Given the description of an element on the screen output the (x, y) to click on. 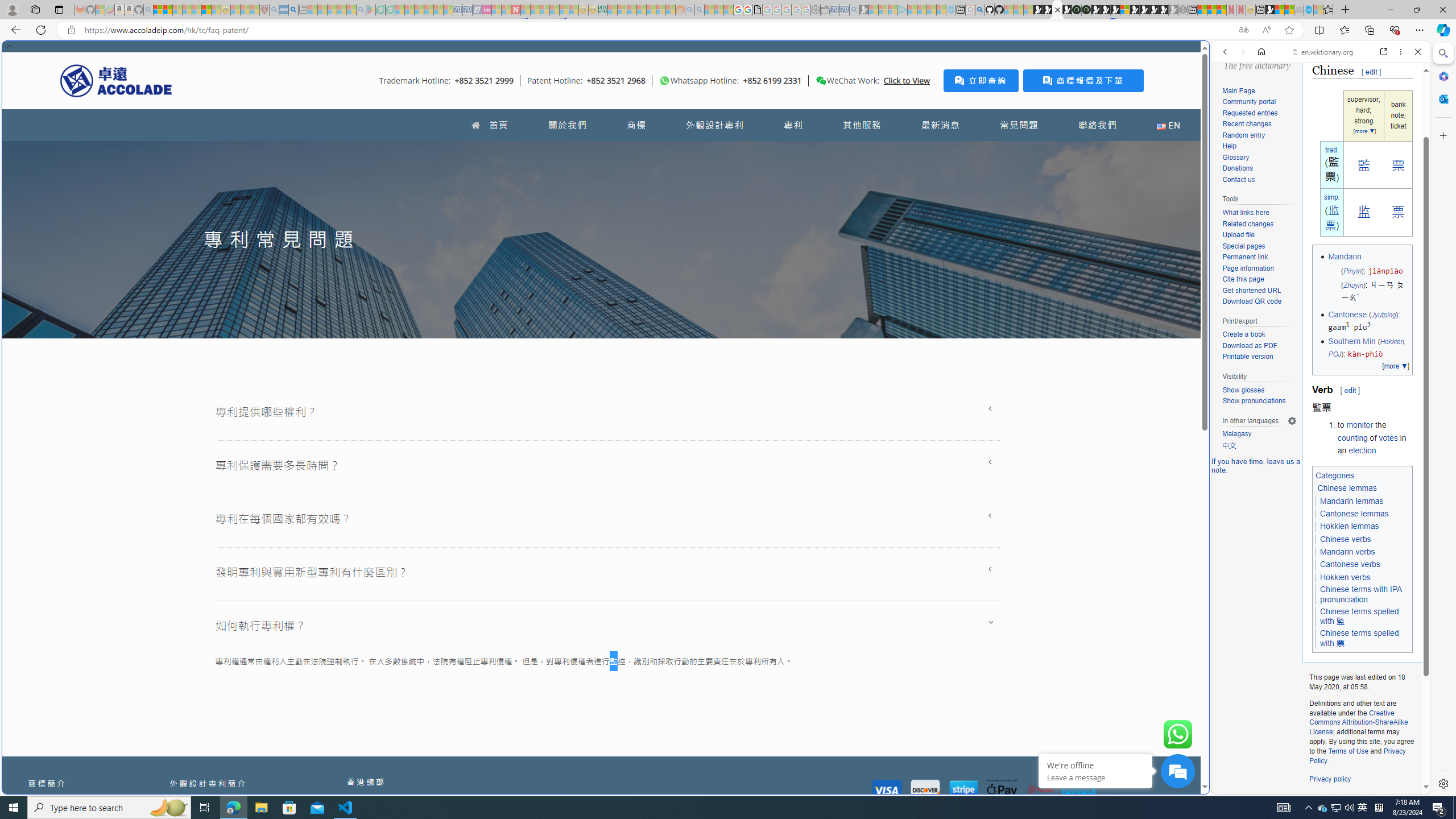
edit (1349, 389)
Tabs you've opened (885, 151)
What links here (1259, 212)
Requested entries (1259, 113)
github - Search (979, 9)
Download as PDF (1259, 345)
Jobs - lastminute.com Investor Portal - Sleeping (486, 9)
Cite this page (1259, 279)
